Given the description of an element on the screen output the (x, y) to click on. 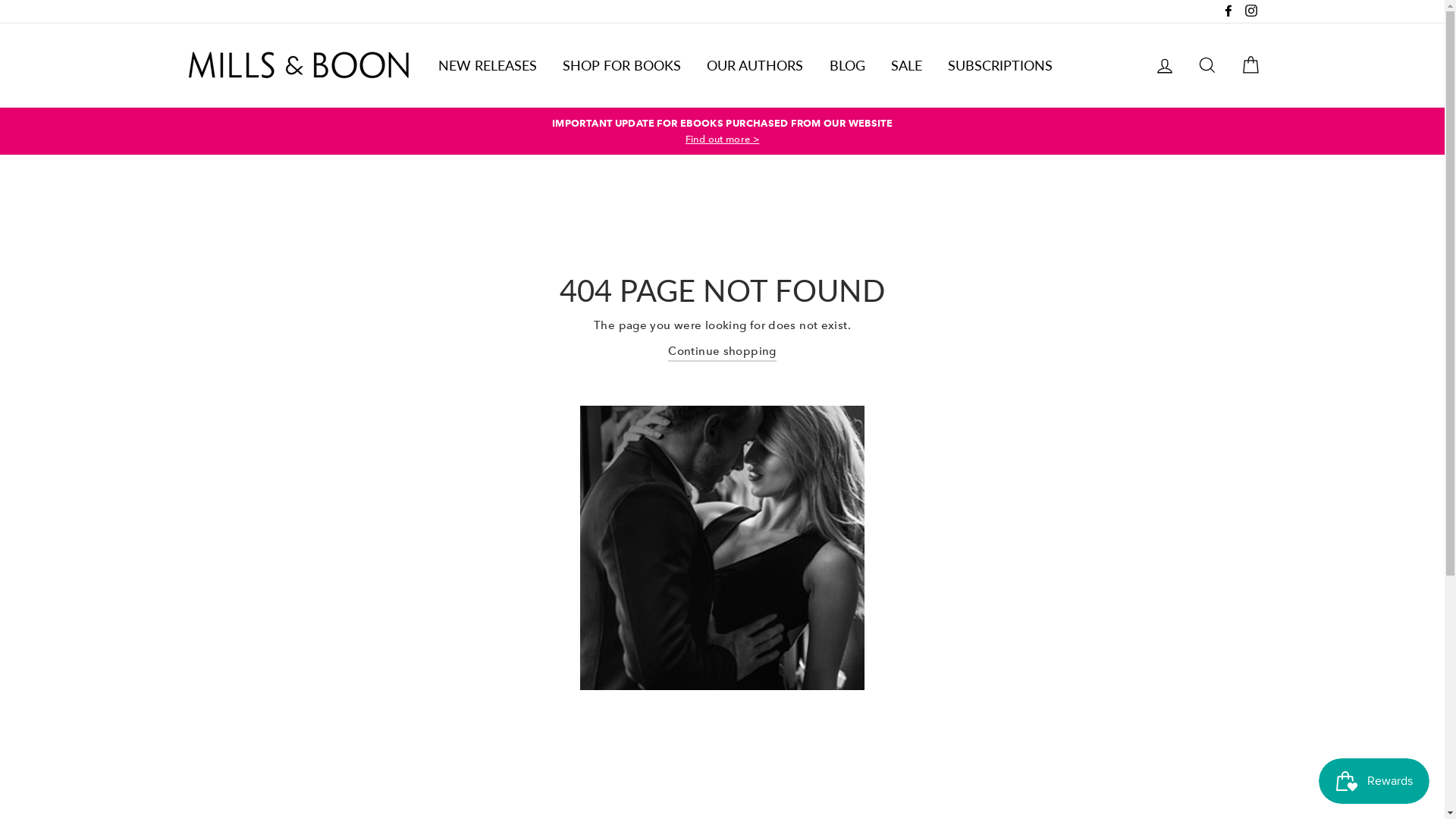
Instagram Element type: text (1250, 11)
SALE Element type: text (906, 65)
Continue shopping Element type: text (721, 351)
CART Element type: text (1249, 65)
Facebook Element type: text (1228, 11)
NEW RELEASES Element type: text (486, 65)
BLOG Element type: text (847, 65)
SEARCH Element type: text (1206, 65)
SHOP FOR BOOKS Element type: text (621, 65)
Smile.io Rewards Program Launcher Element type: hover (1373, 780)
OUR AUTHORS Element type: text (754, 65)
SUBSCRIPTIONS Element type: text (999, 65)
LOG IN Element type: text (1164, 65)
